Given the description of an element on the screen output the (x, y) to click on. 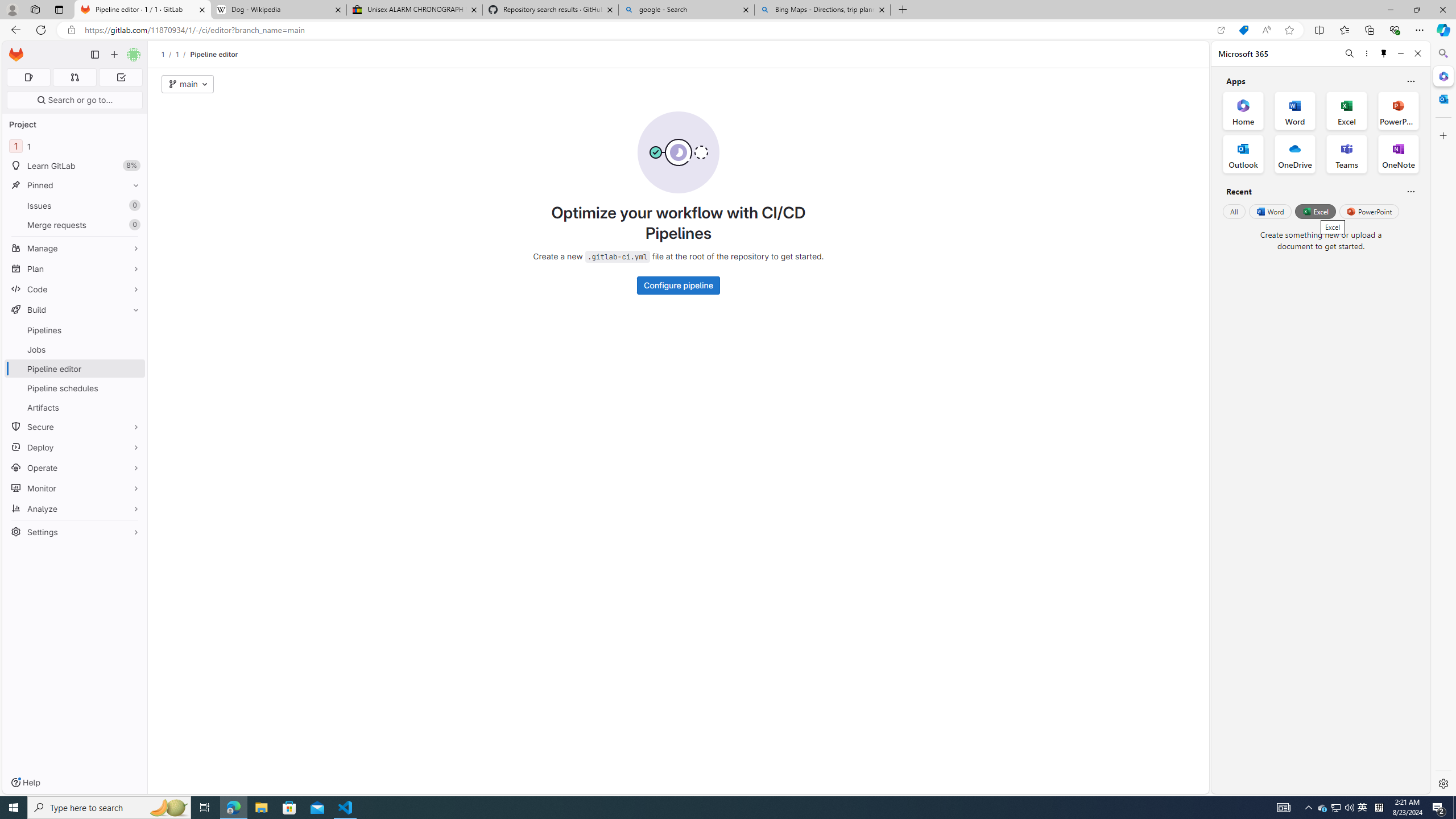
Deploy (74, 447)
Pipeline schedules (74, 387)
Word (1269, 210)
Unpin Merge requests (132, 224)
Dog - Wikipedia (277, 9)
PowerPoint Office App (1398, 110)
Configure pipeline (678, 285)
Pinned (74, 185)
Operate (74, 467)
Analyze (74, 508)
Is this helpful? (1410, 191)
Merge requests0 (74, 224)
